Given the description of an element on the screen output the (x, y) to click on. 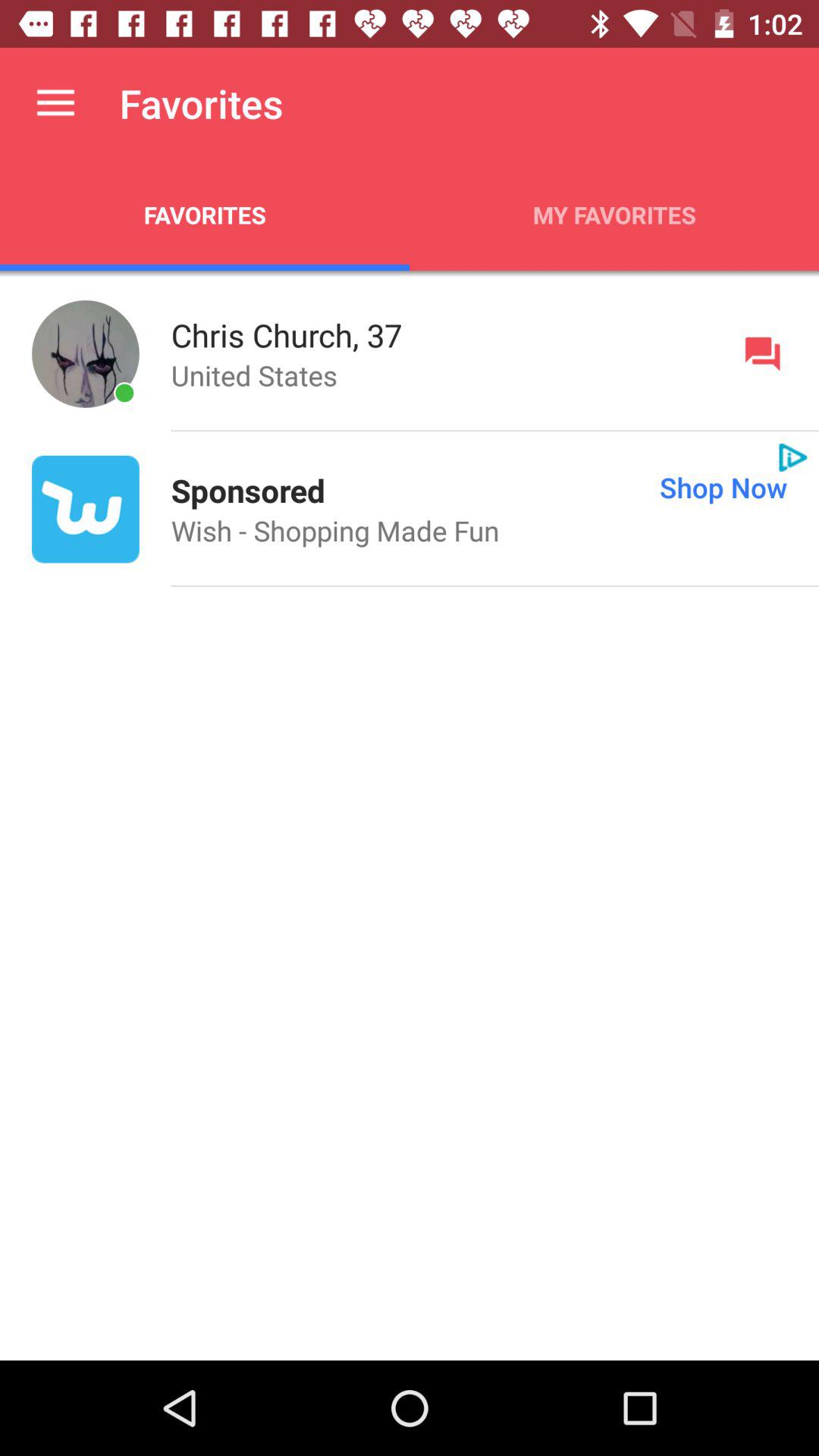
jump until sponsored app (248, 489)
